Given the description of an element on the screen output the (x, y) to click on. 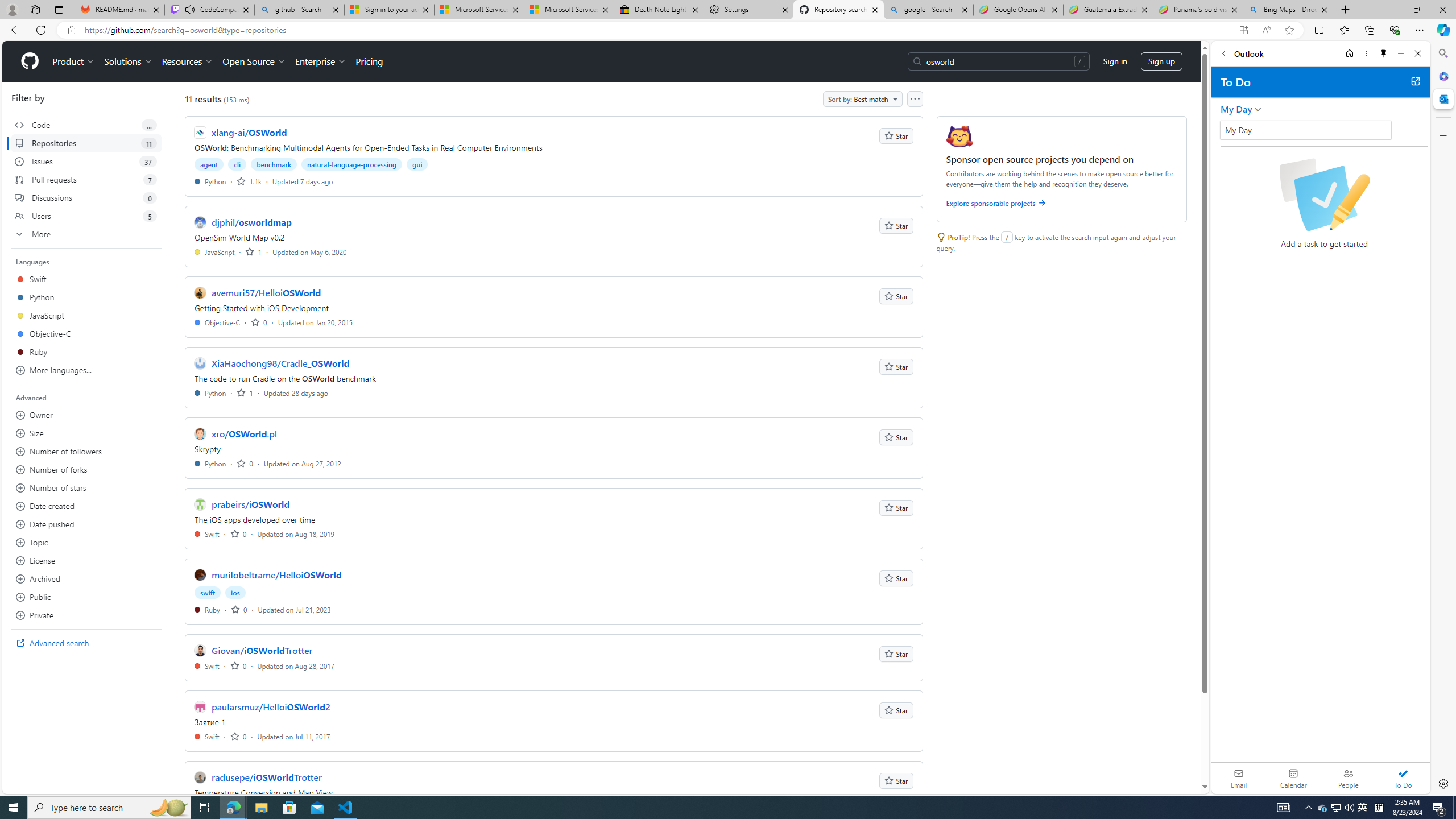
To Do (1402, 777)
More languages... (86, 370)
Product (74, 60)
Updated on Aug 27, 2012 (301, 462)
1.1k (248, 181)
Google Opens AI Academy for Startups - Nearshore Americas (1018, 9)
Mute tab (189, 8)
Product (74, 60)
